Given the description of an element on the screen output the (x, y) to click on. 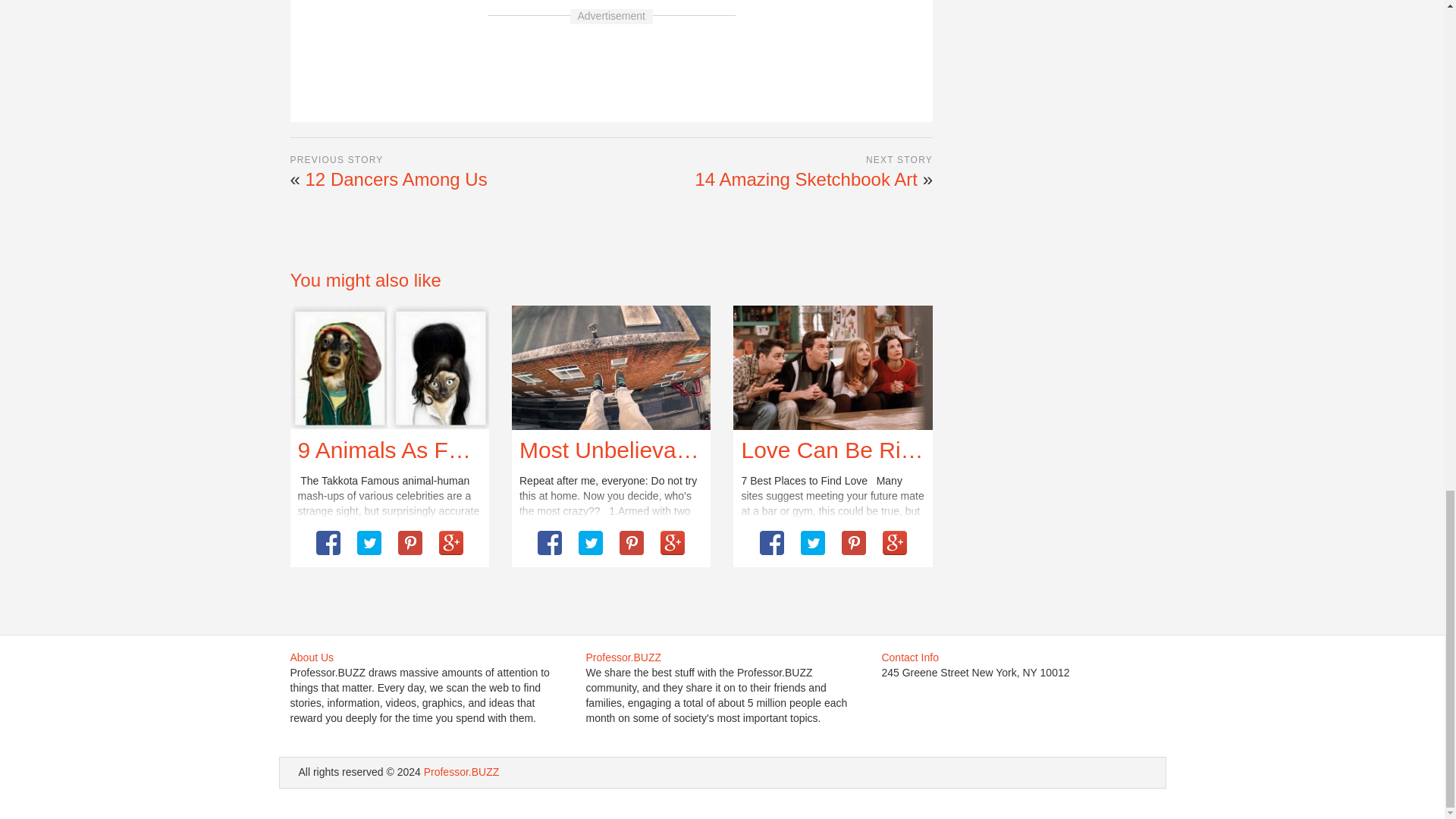
9 Animals As Fam... (397, 449)
14 Amazing Sketchbook Art (805, 178)
12 Dancers Among Us (396, 178)
Next (684, 2)
Advertisement (610, 65)
Prev (539, 2)
Most Unbelievabl... (616, 449)
